Given the description of an element on the screen output the (x, y) to click on. 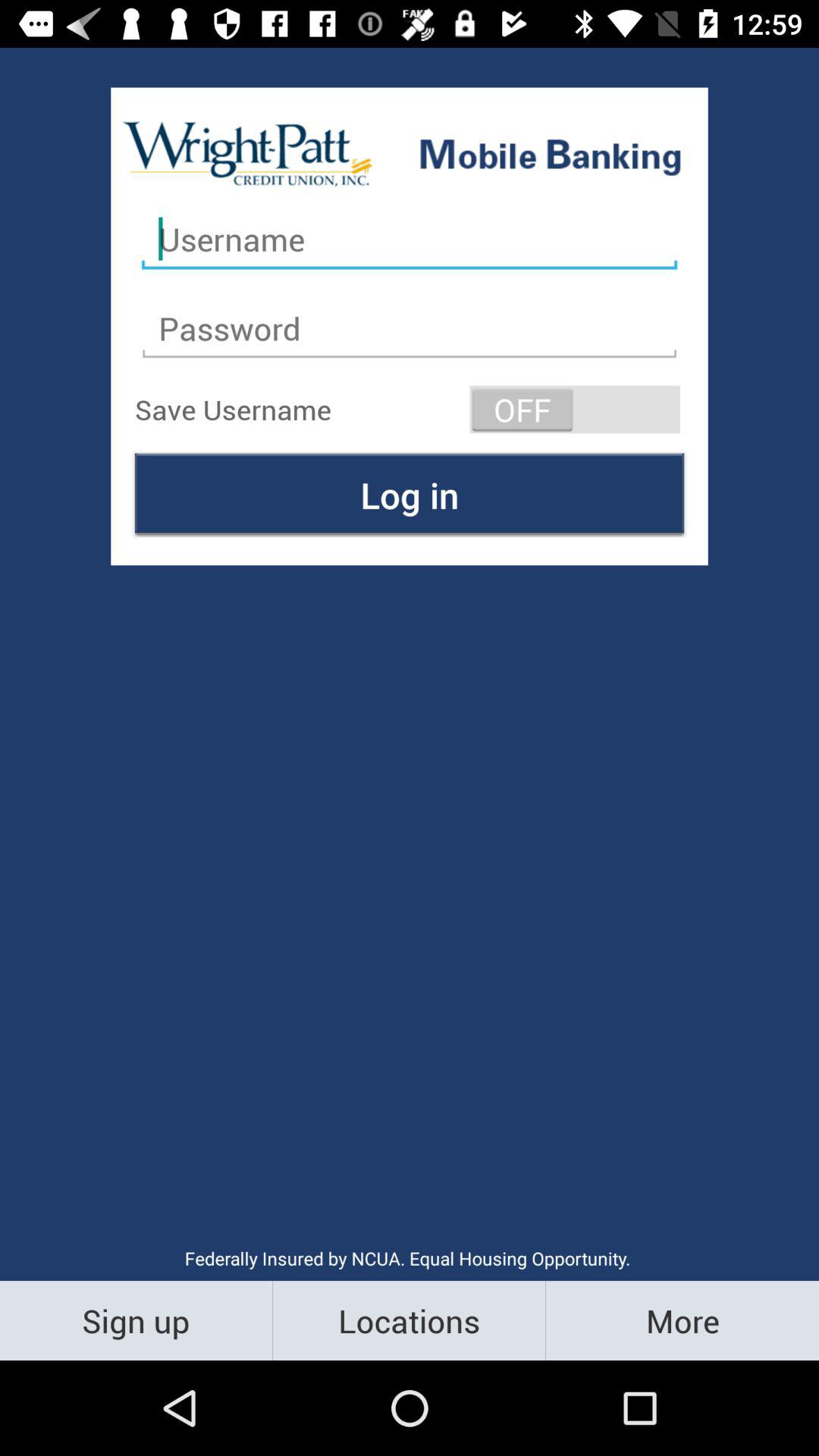
click sign up item (136, 1320)
